Given the description of an element on the screen output the (x, y) to click on. 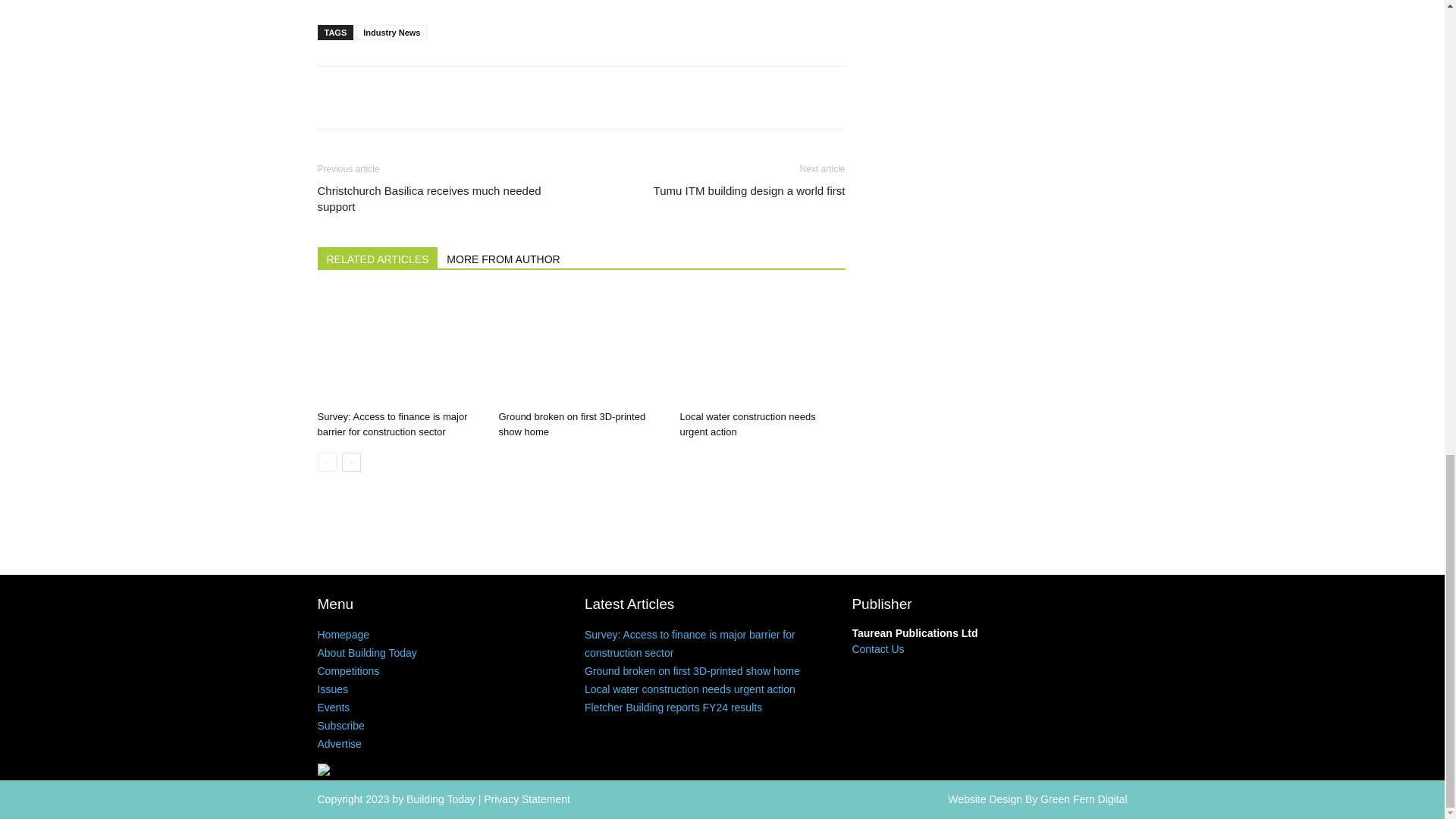
Ground broken on first 3D-printed show home (580, 347)
